Given the description of an element on the screen output the (x, y) to click on. 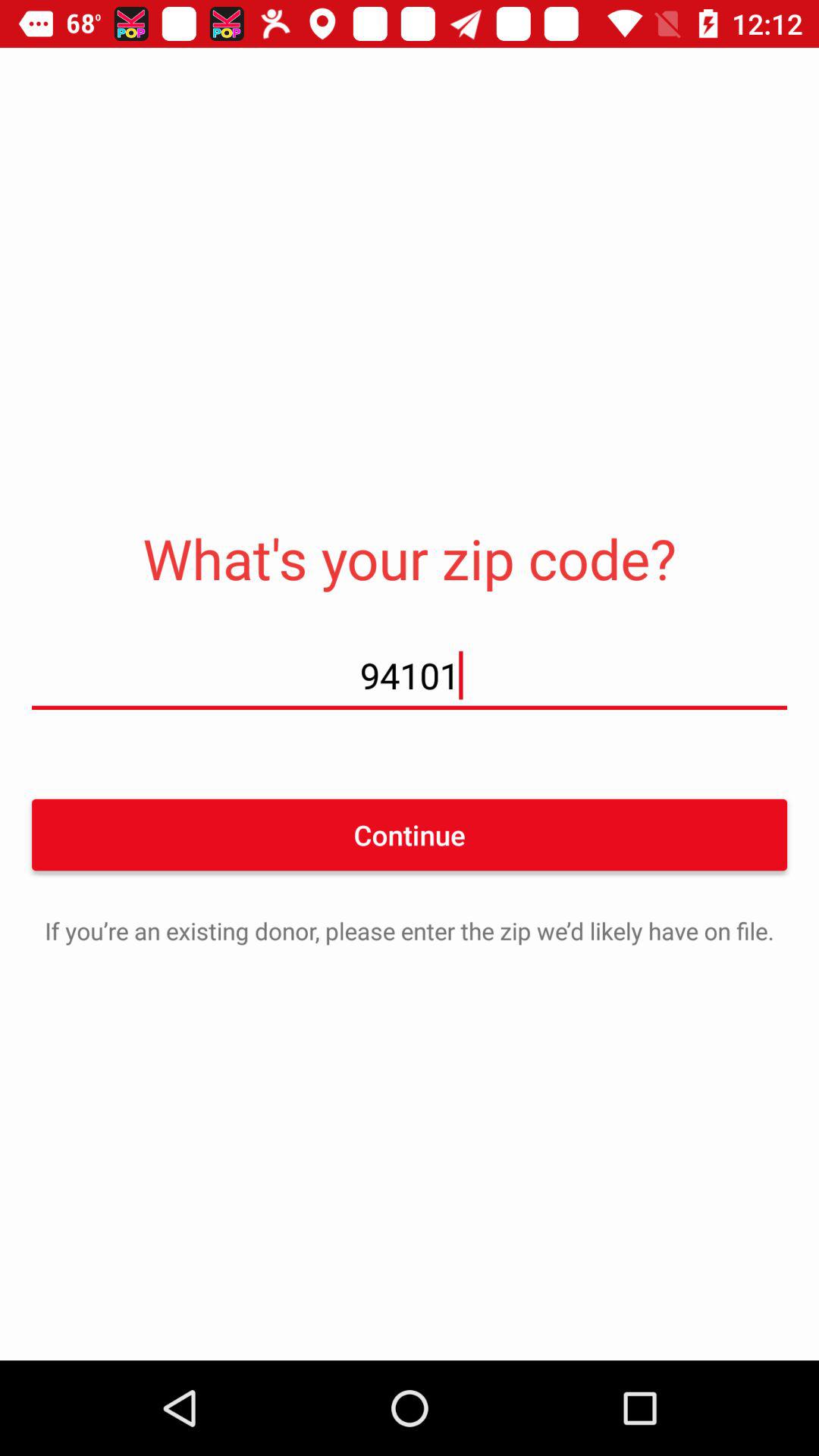
swipe until the continue item (409, 834)
